Given the description of an element on the screen output the (x, y) to click on. 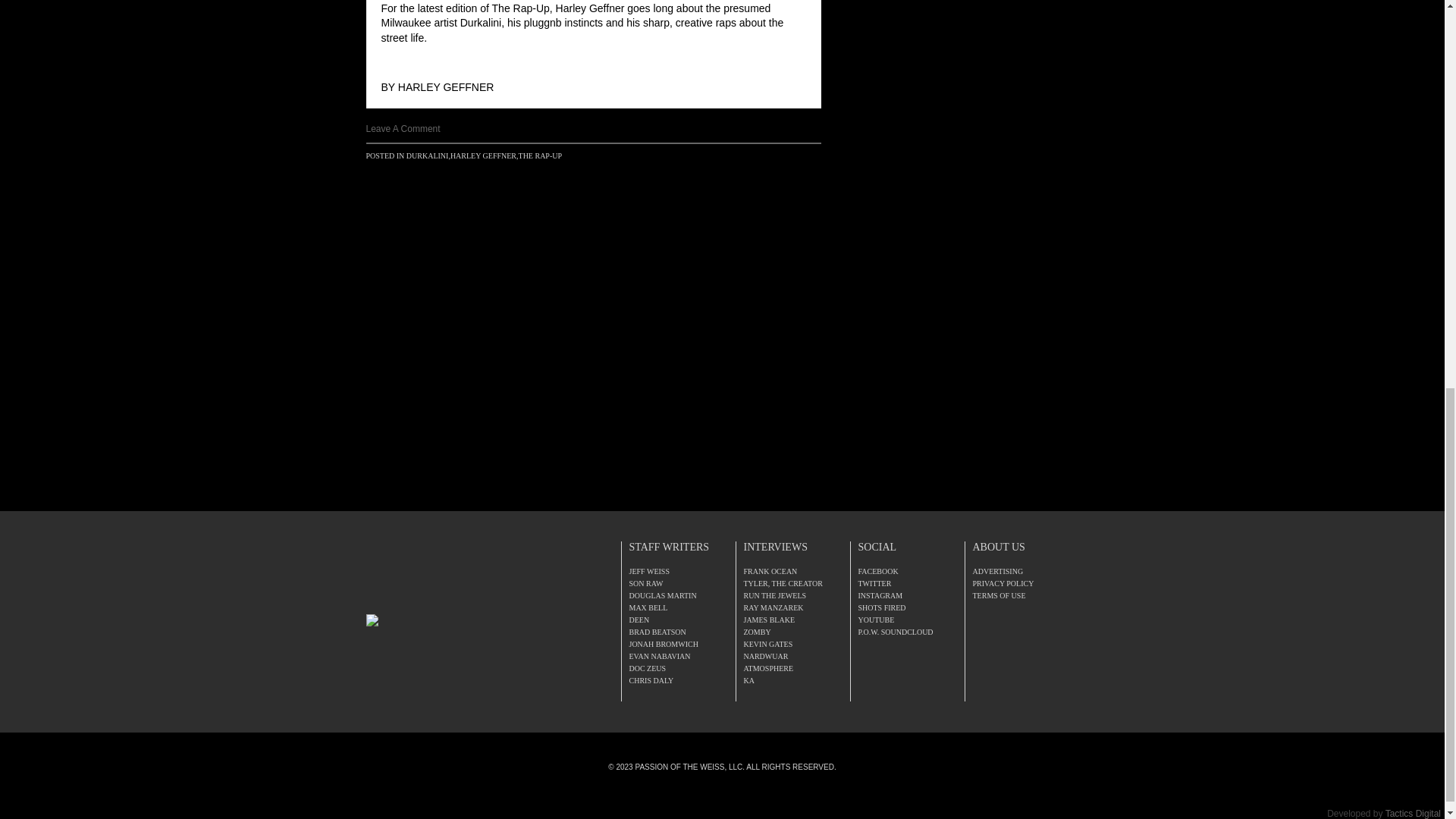
Leave A Comment (402, 128)
HARLEY GEFFNER (446, 87)
DURKALINI (427, 155)
THE RAP-UP (540, 155)
HARLEY GEFFNER (482, 155)
